Given the description of an element on the screen output the (x, y) to click on. 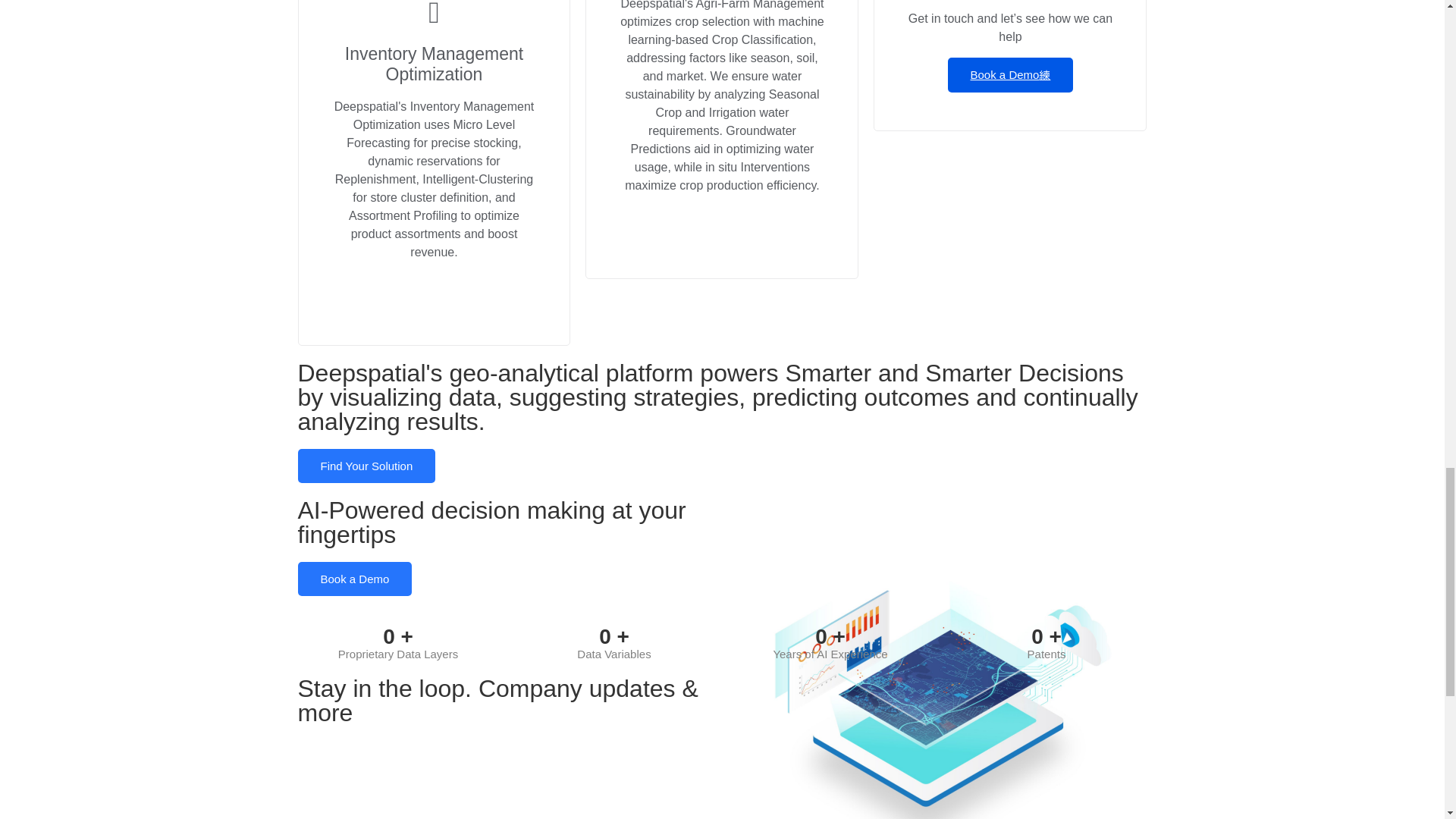
Sign me up (938, 747)
